Given the description of an element on the screen output the (x, y) to click on. 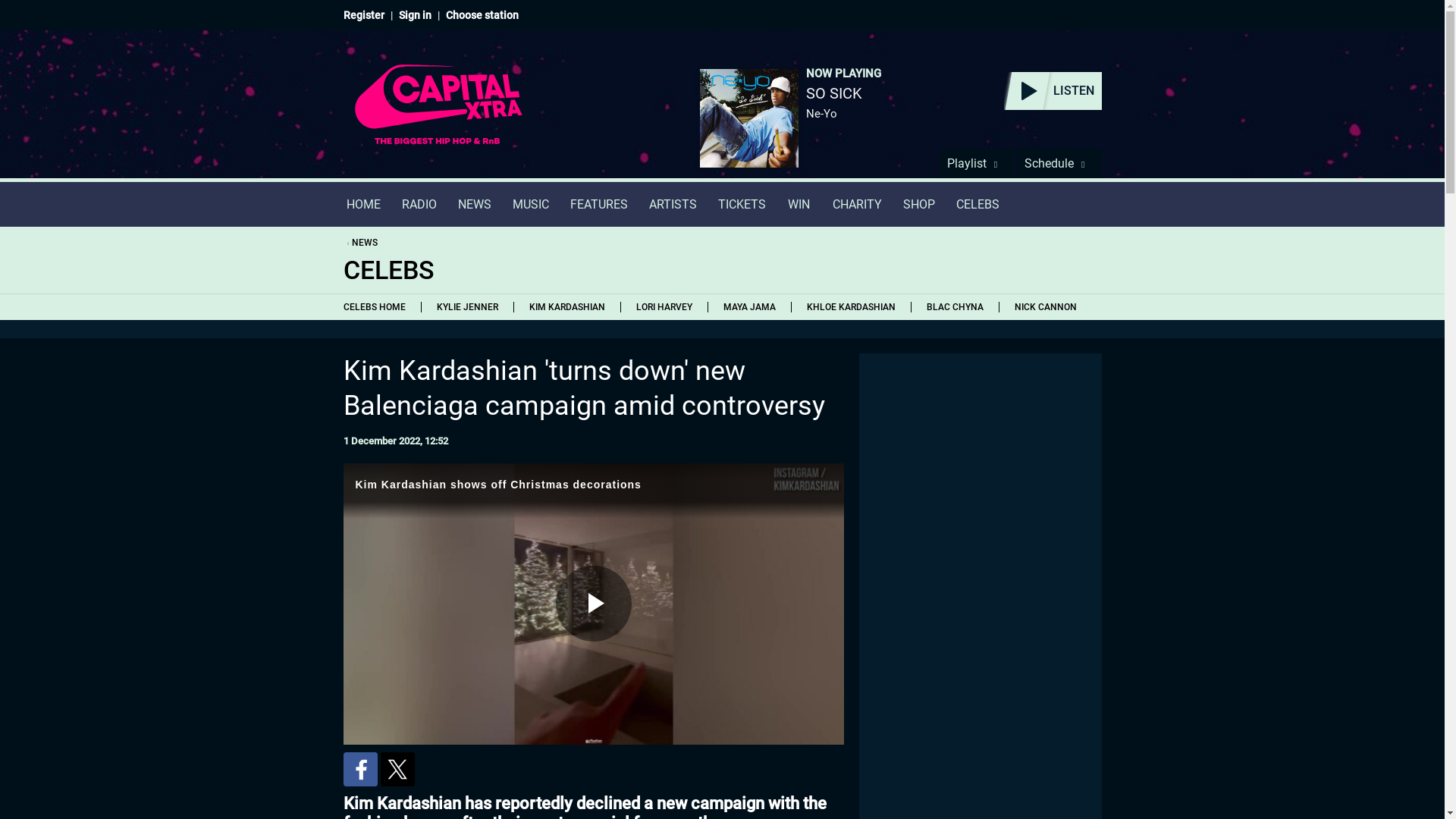
HOME (362, 203)
NEWS (359, 242)
MUSIC (530, 203)
ARTISTS (673, 203)
MAYA JAMA (748, 307)
Playlist (976, 163)
KIM KARDASHIAN (566, 307)
CELEBS HOME (377, 307)
TICKETS (741, 203)
CELEBS (976, 203)
KHLOE KARDASHIAN (850, 307)
FEATURES (599, 203)
Capital XTRA (437, 113)
LISTEN (1053, 90)
LORI HARVEY (663, 307)
